Given the description of an element on the screen output the (x, y) to click on. 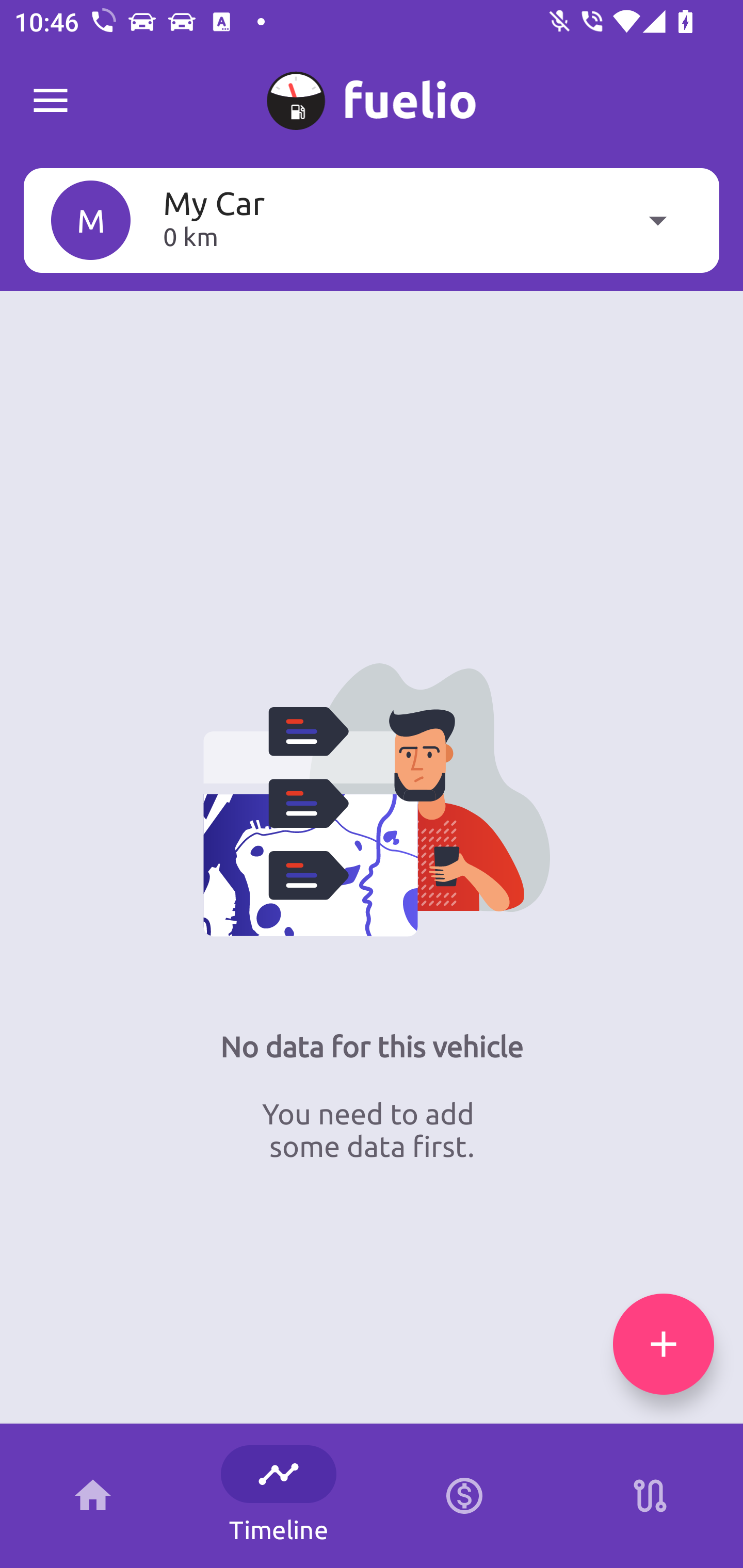
Fuelio (50, 101)
M My Car 0 km (371, 219)
Home (92, 1495)
Calculator (464, 1495)
Stations on route (650, 1495)
